Given the description of an element on the screen output the (x, y) to click on. 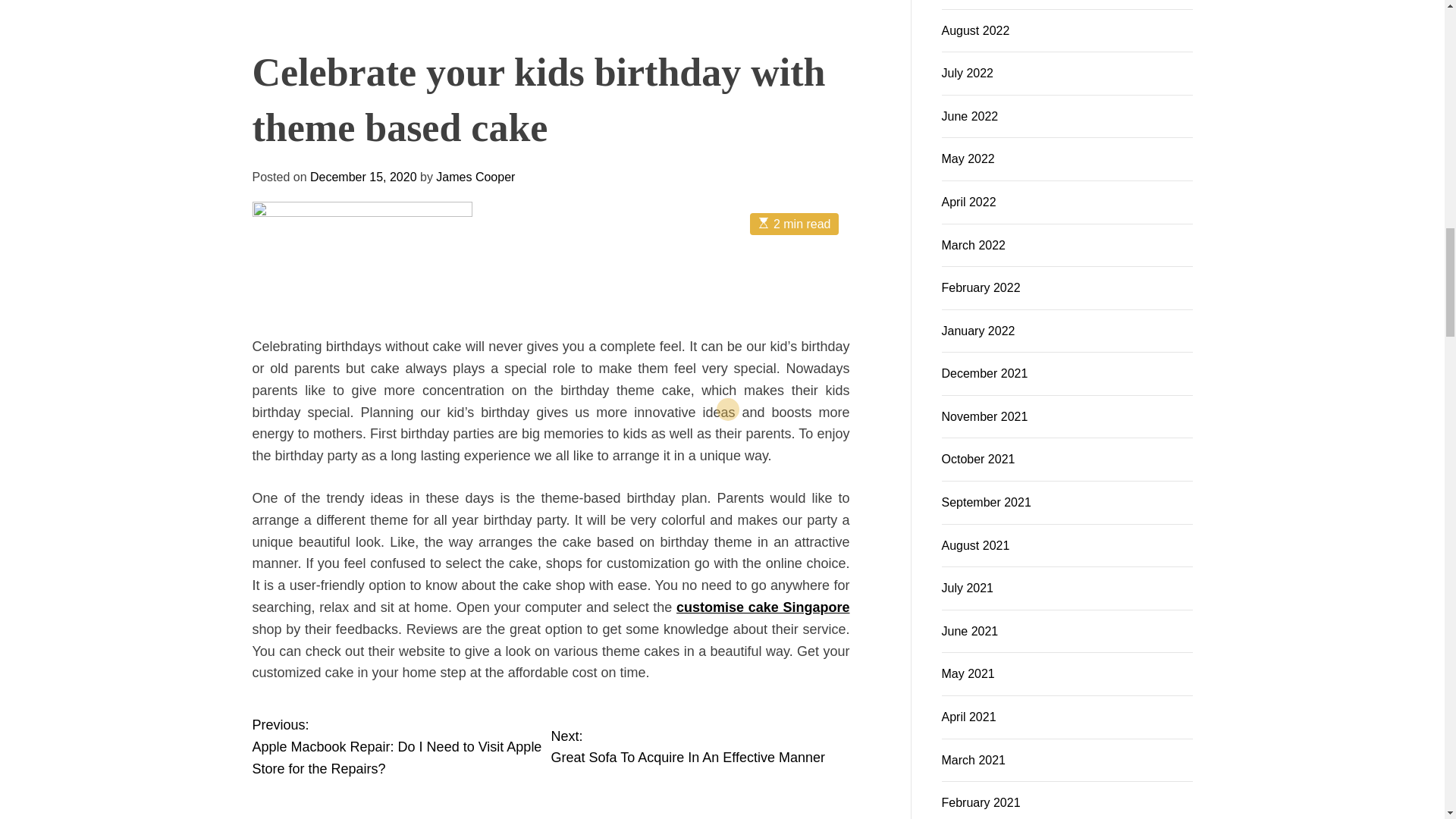
Benefits of CBD Oil for Dogs: What You Need to Know (338, 112)
